Given the description of an element on the screen output the (x, y) to click on. 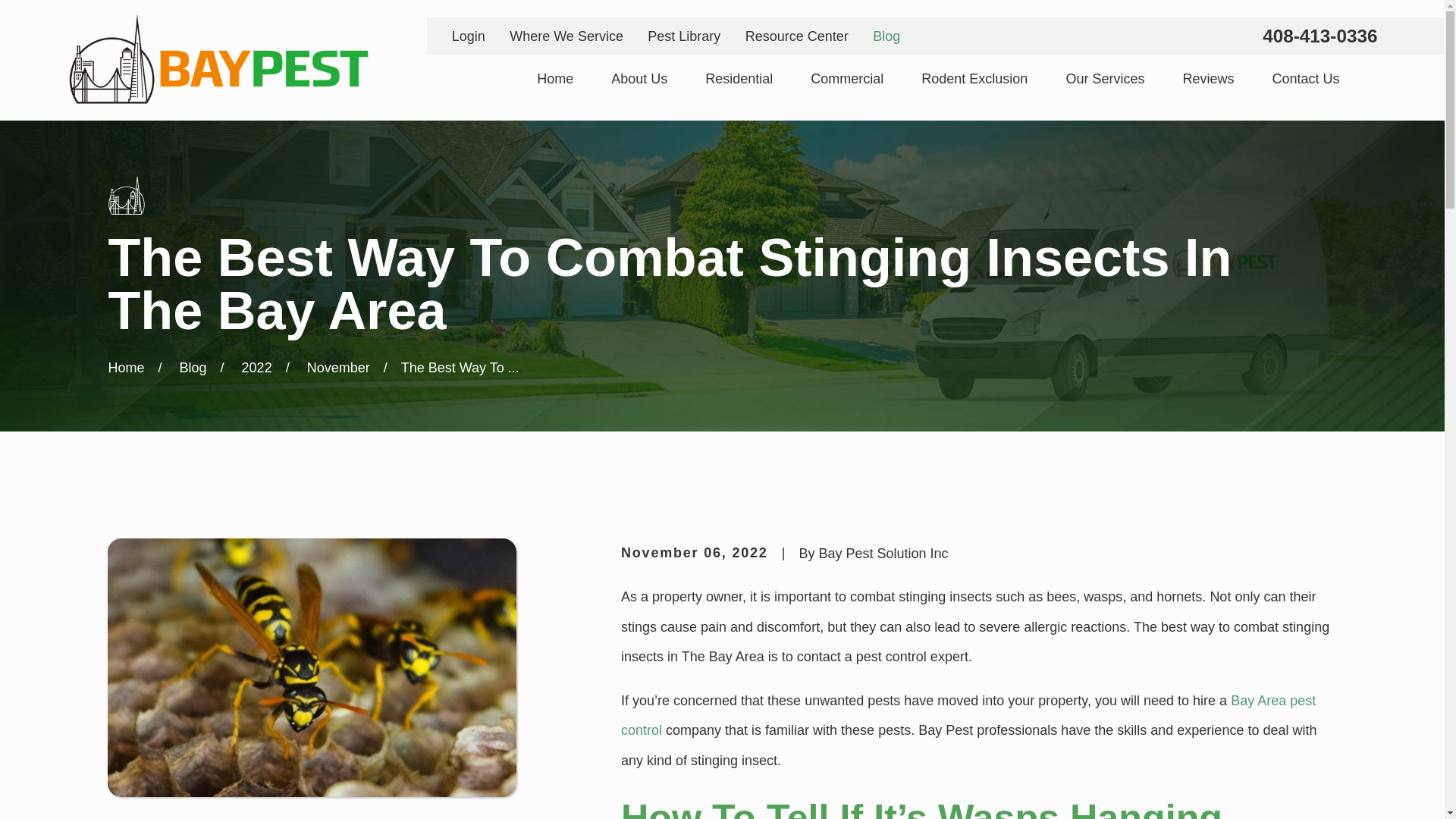
Go Home (125, 367)
Commercial (846, 78)
Login (467, 36)
Where We Service (566, 36)
Contact Us (1305, 78)
408-413-0336 (1319, 35)
Resource Center (796, 36)
Home (555, 78)
Blog (885, 36)
About Us (638, 78)
